Given the description of an element on the screen output the (x, y) to click on. 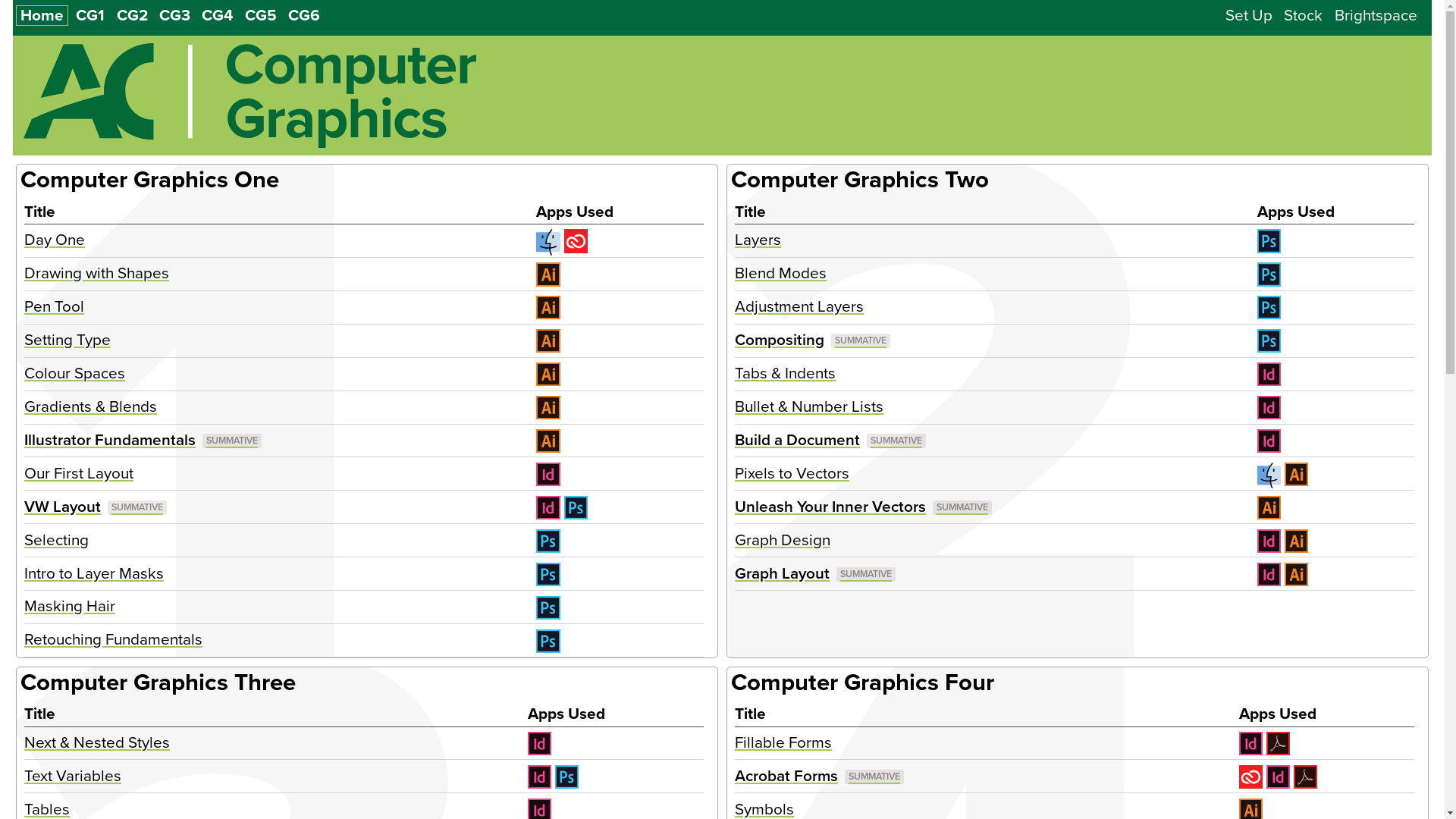
Computer Graphics Three Element type: text (157, 682)
Graph Design Element type: text (782, 539)
Setting Type Element type: text (67, 339)
Acrobat Forms Element type: text (818, 775)
Bullet & Number Lists Element type: text (808, 406)
Stock Element type: text (1303, 15)
CG2 Element type: text (131, 15)
Masking Hair Element type: text (69, 605)
Intro to Layer Masks Element type: text (93, 573)
Colour Spaces Element type: text (74, 373)
CG5 Element type: text (260, 15)
Blend Modes Element type: text (780, 272)
CG1 Element type: text (90, 15)
Compositing Element type: text (812, 339)
Text Variables Element type: text (72, 775)
Graph Layout Element type: text (814, 573)
Build a Document Element type: text (829, 439)
Next & Nested Styles Element type: text (96, 742)
Computer Graphics Two Element type: text (859, 179)
Fillable Forms Element type: text (782, 742)
Selecting Element type: text (56, 539)
Pixels to Vectors Element type: text (791, 473)
Set Up Element type: text (1248, 15)
Our First Layout Element type: text (78, 473)
Day One Element type: text (54, 239)
CG4 Element type: text (216, 15)
Illustrator Fundamentals Element type: text (142, 439)
CG6 Element type: text (303, 15)
Adjustment Layers Element type: text (798, 306)
Unleash Your Inner Vectors Element type: text (862, 506)
Home Element type: text (41, 15)
Retouching Fundamentals Element type: text (113, 639)
Gradients & Blends Element type: text (90, 406)
VW Layout Element type: text (95, 506)
Drawing with Shapes Element type: text (96, 272)
Brightspace Element type: text (1375, 15)
CG3 Element type: text (174, 15)
Layers Element type: text (757, 239)
Tabs & Indents Element type: text (784, 373)
Pen Tool Element type: text (54, 306)
Computer Graphics One Element type: text (149, 179)
Computer Graphics Four Element type: text (862, 682)
